Given the description of an element on the screen output the (x, y) to click on. 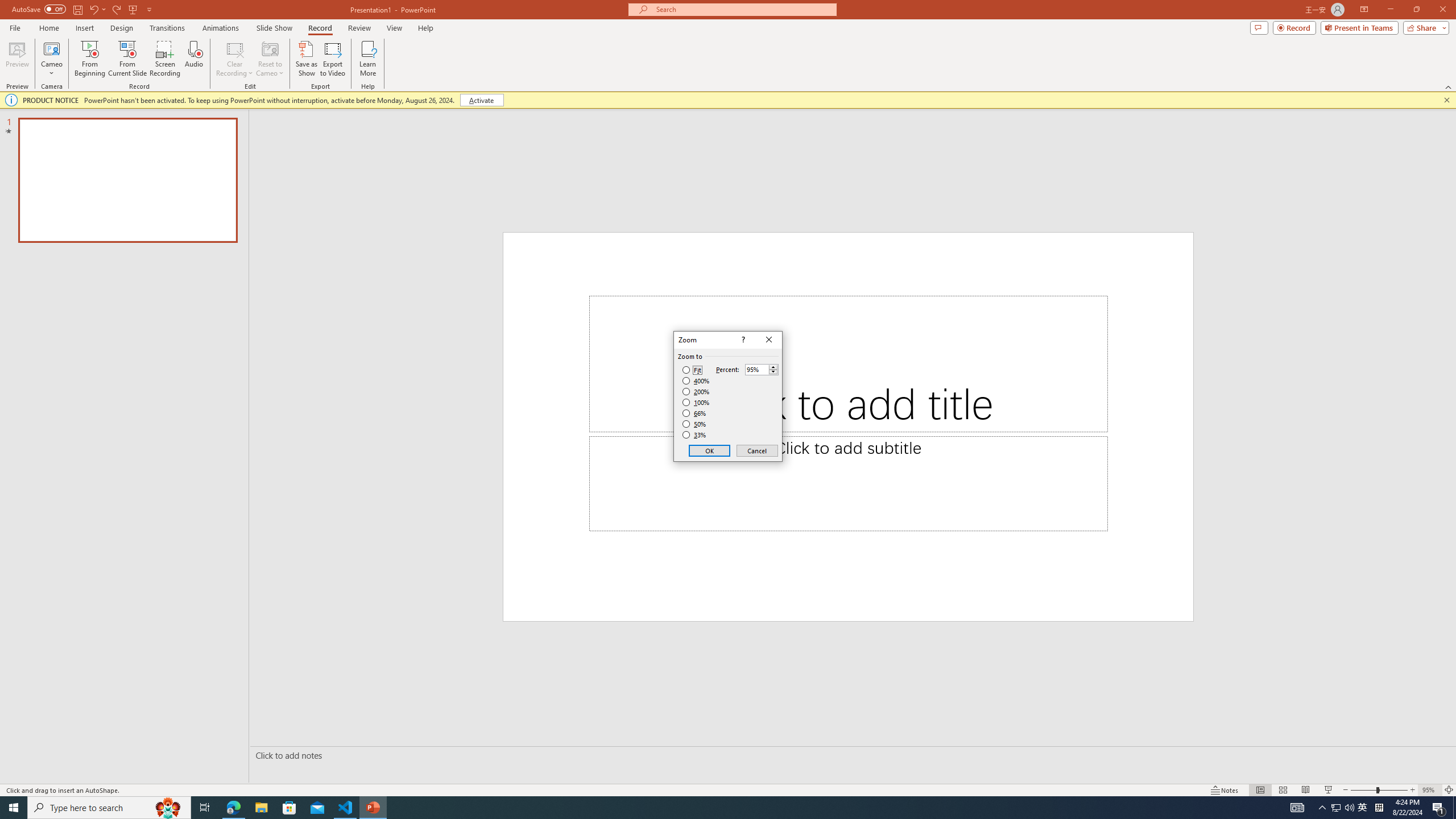
400% (696, 380)
33% (694, 434)
